Given the description of an element on the screen output the (x, y) to click on. 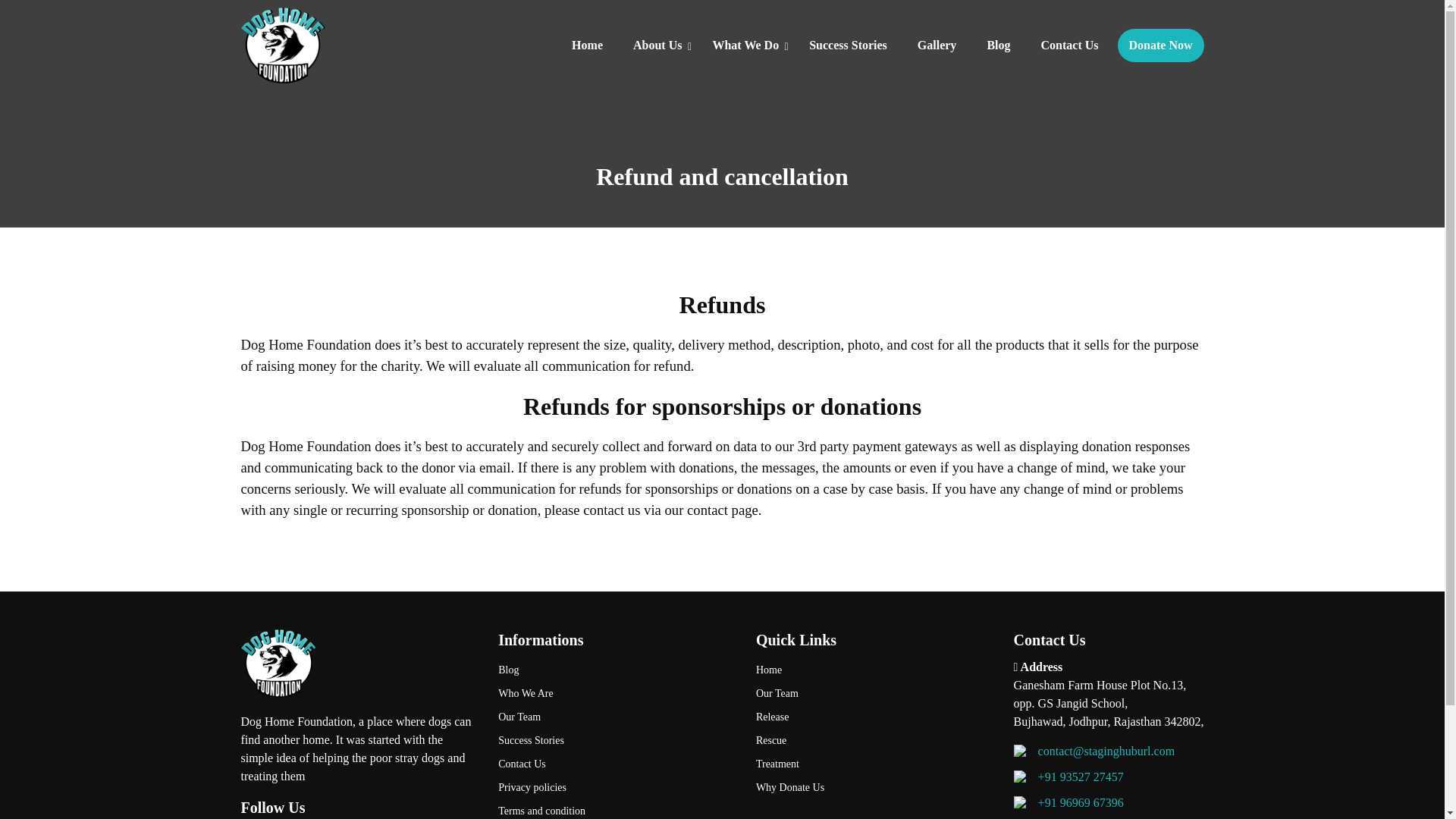
Treatment (873, 763)
Donate Now (1161, 45)
Our Team (615, 716)
Blog (615, 669)
Privacy policies (615, 787)
About Us (657, 45)
Blog (998, 45)
Gallery (936, 45)
Contact Us (1069, 45)
Rescue (873, 740)
Terms and condition (615, 809)
Home (873, 669)
Release (873, 716)
Home (587, 45)
Why Donate Us (873, 787)
